Given the description of an element on the screen output the (x, y) to click on. 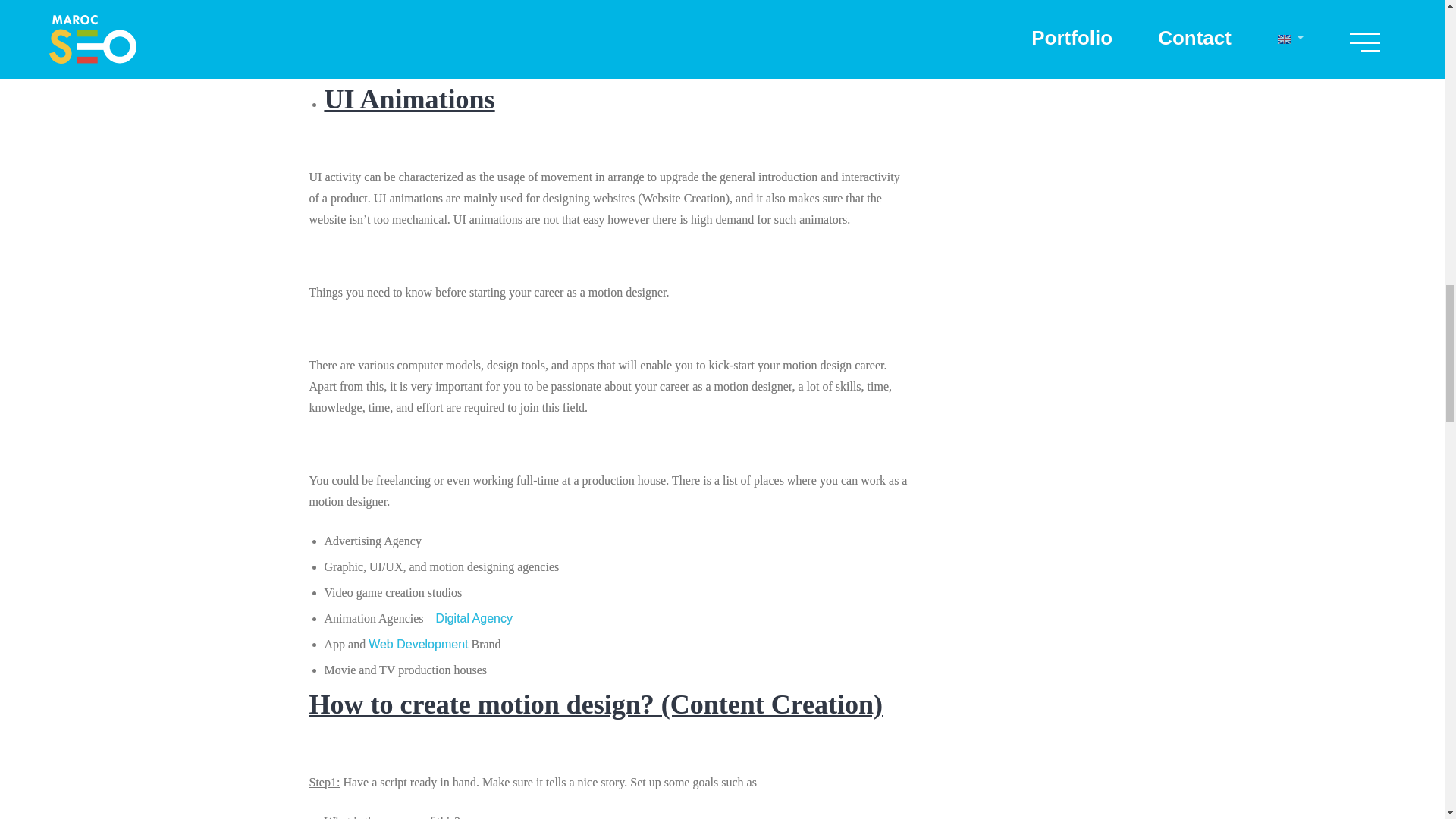
Web Development and The 3 Types of Web Development (417, 644)
